Given the description of an element on the screen output the (x, y) to click on. 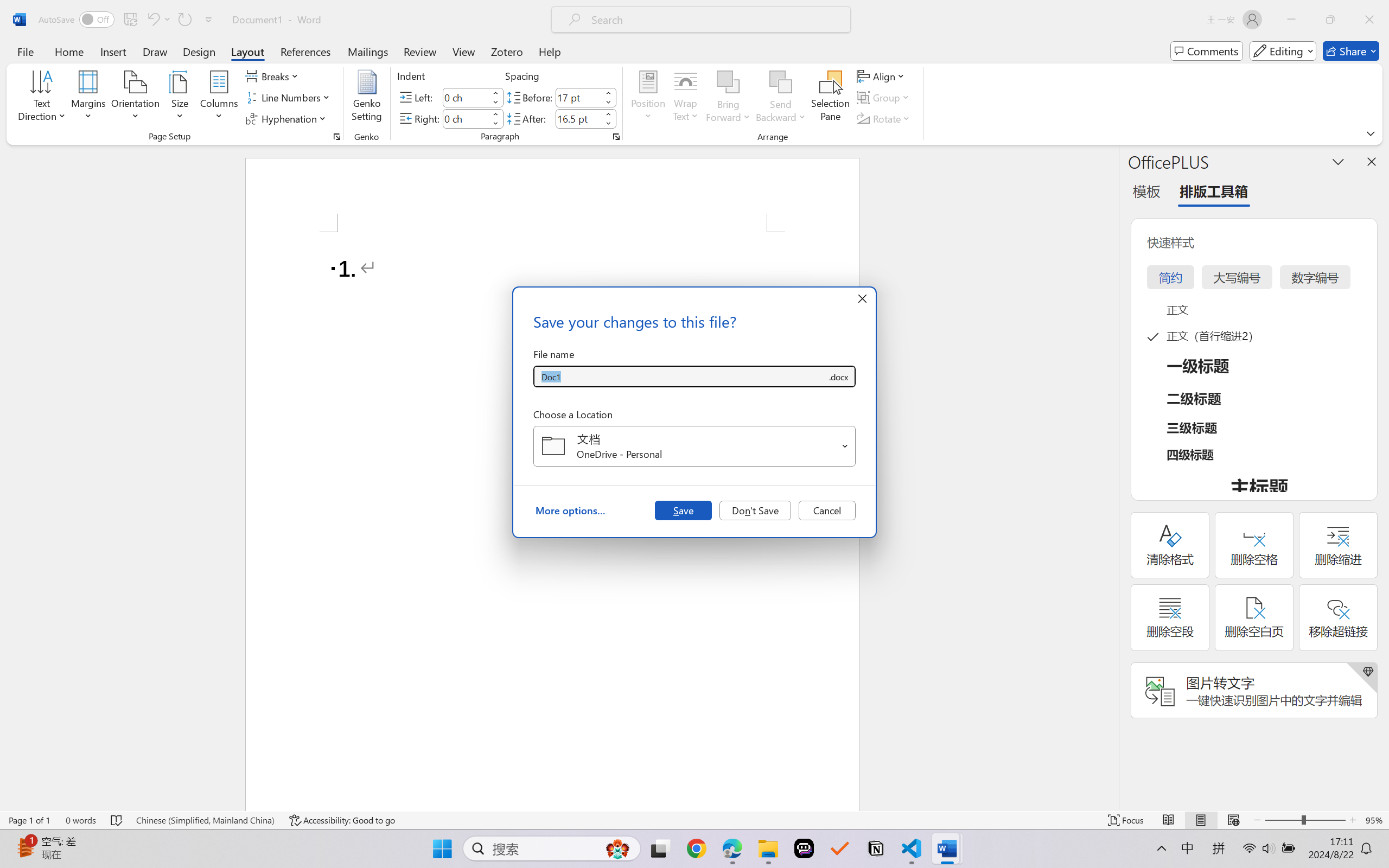
Indent Left (465, 96)
Send Backward (781, 97)
Genko Setting... (367, 97)
Undo Number Default (158, 19)
